Given the description of an element on the screen output the (x, y) to click on. 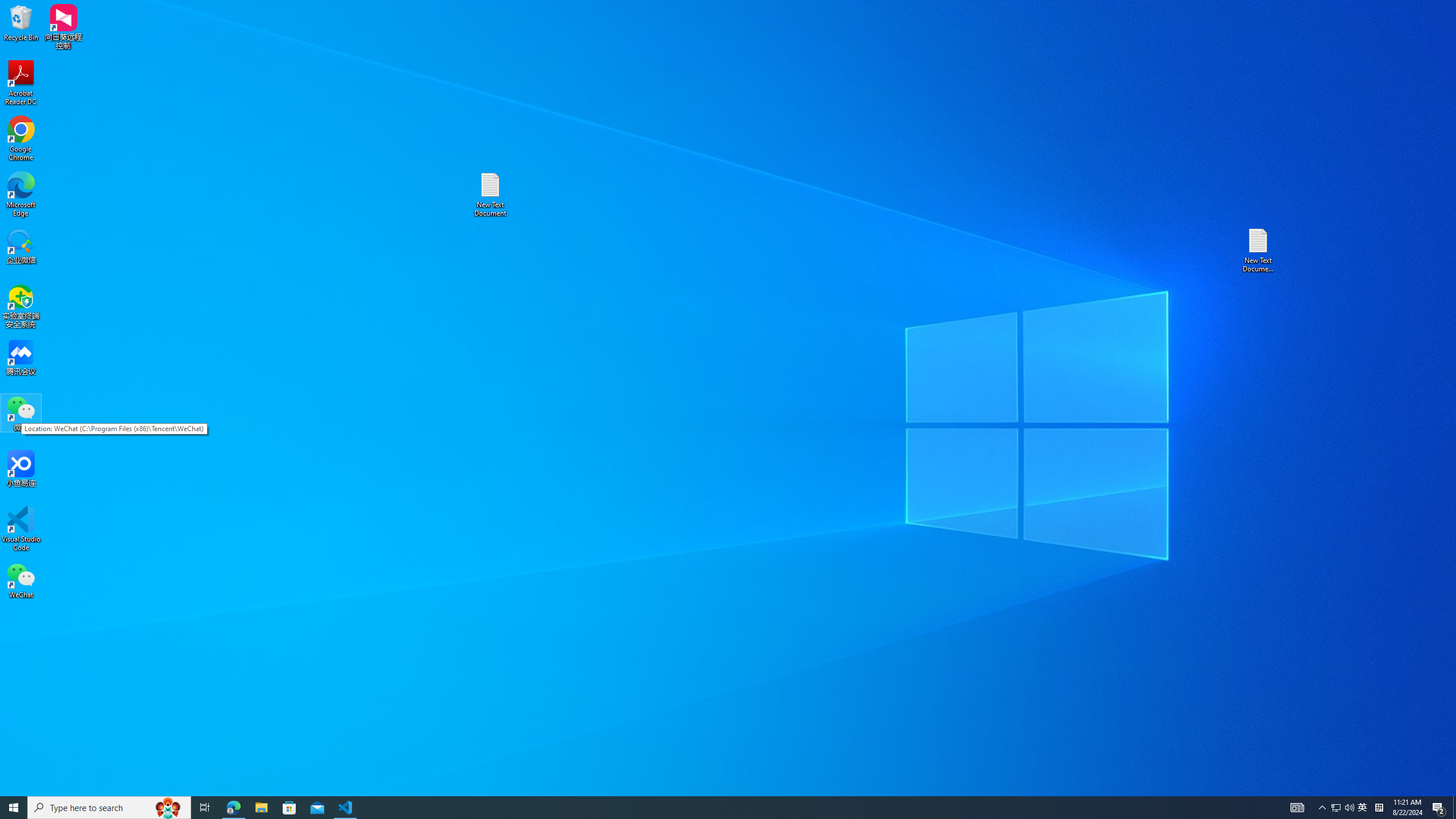
WeChat (21, 580)
Running applications (707, 807)
Acrobat Reader DC (21, 82)
New Text Document (489, 194)
Google Chrome (21, 138)
Recycle Bin (21, 22)
